Given the description of an element on the screen output the (x, y) to click on. 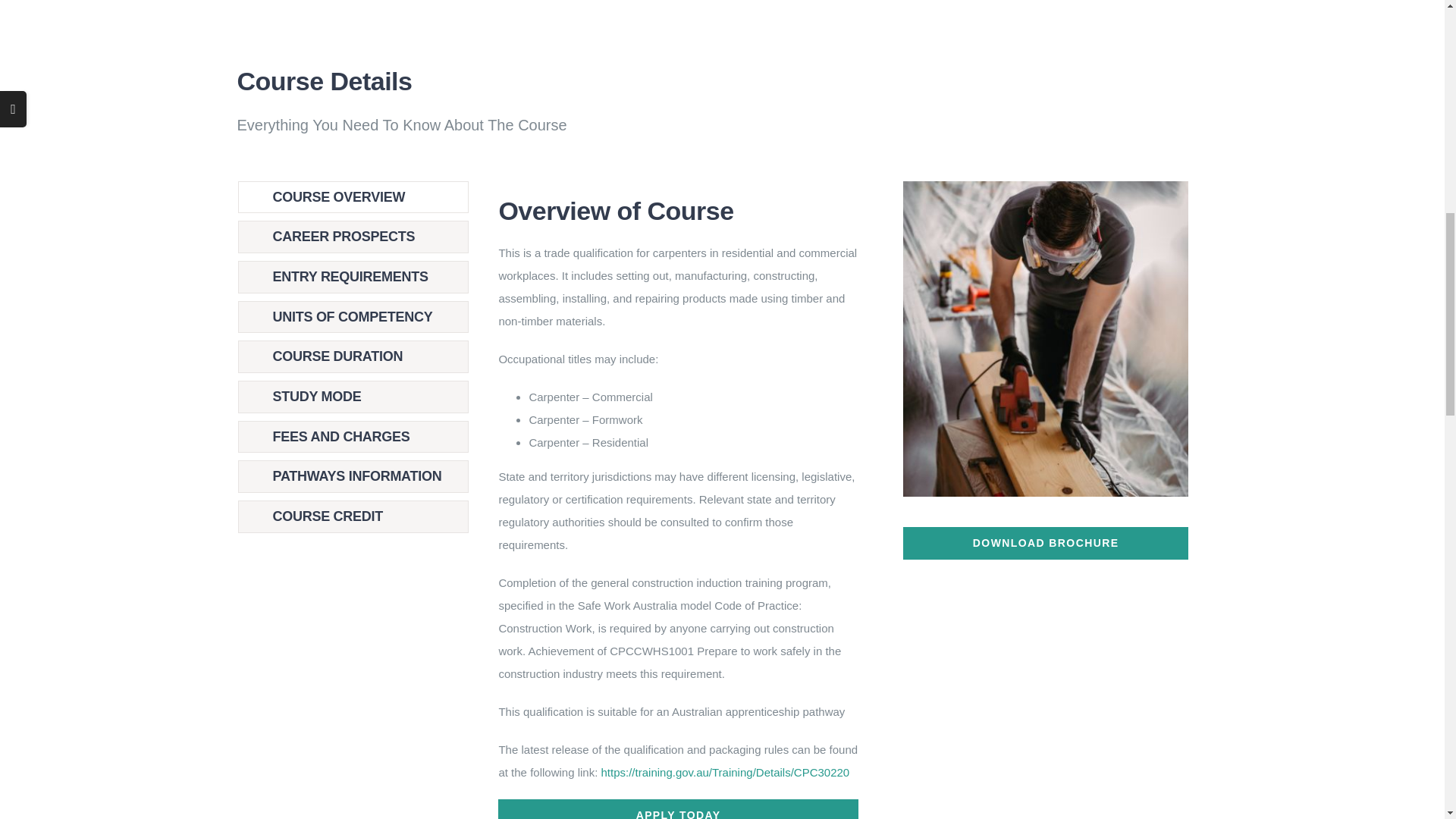
UNITS OF COMPETENCY (353, 317)
FEES AND CHARGES (353, 436)
PATHWAYS INFORMATION (353, 476)
CAREER PROSPECTS (353, 236)
COURSE DURATION (353, 356)
ENTRY REQUIREMENTS (353, 277)
STUDY MODE (353, 396)
COURSE CREDIT (353, 516)
Certificate III in Carpentry (1045, 338)
APPLY TODAY (677, 809)
Brochure - SIT40521 Certificate IV in Kitchen Management (1045, 543)
COURSE OVERVIEW (353, 196)
